Given the description of an element on the screen output the (x, y) to click on. 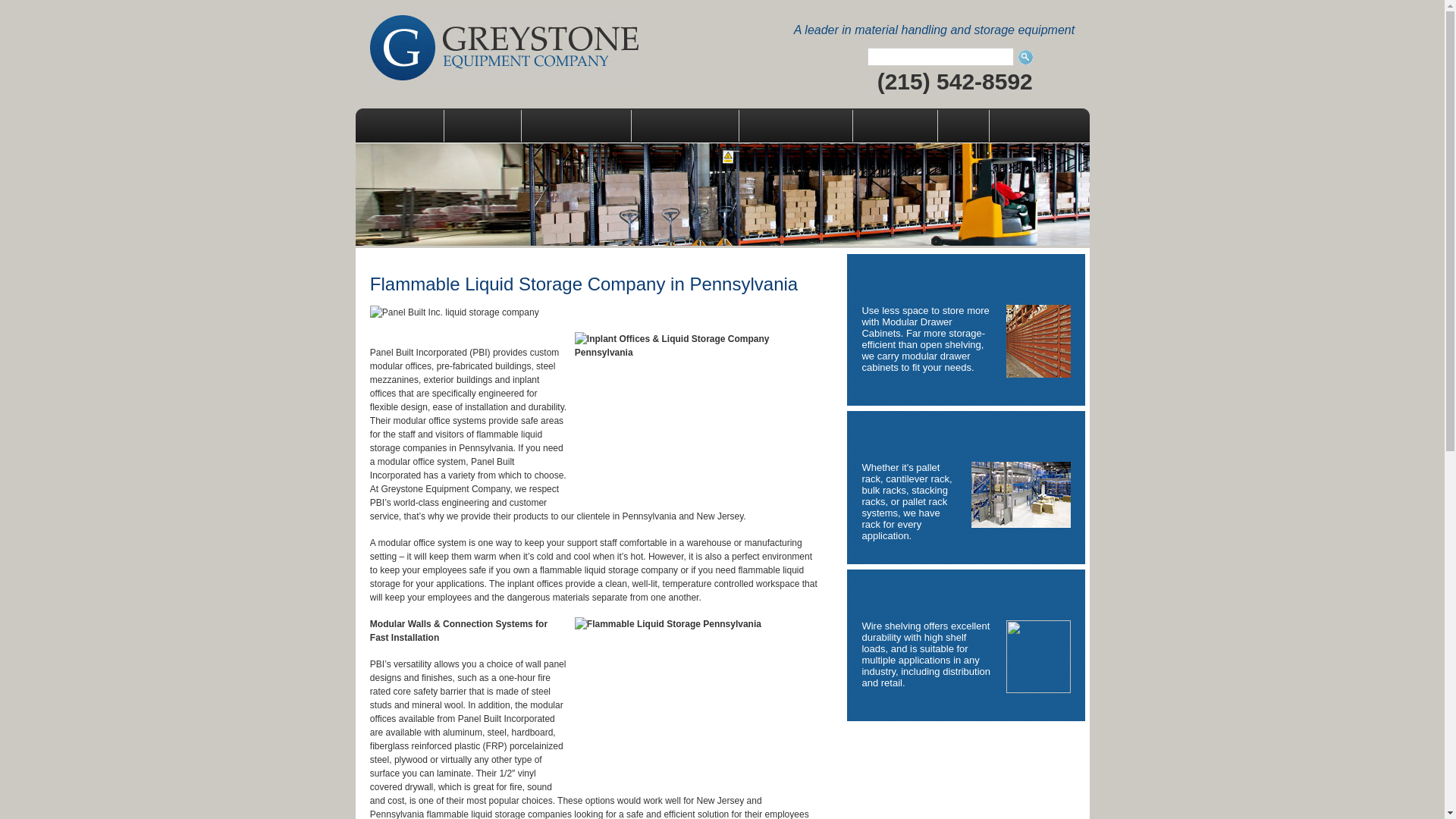
GREYSTONE EQUIPMENT COMPANY (504, 47)
pic2 (1020, 494)
